Given the description of an element on the screen output the (x, y) to click on. 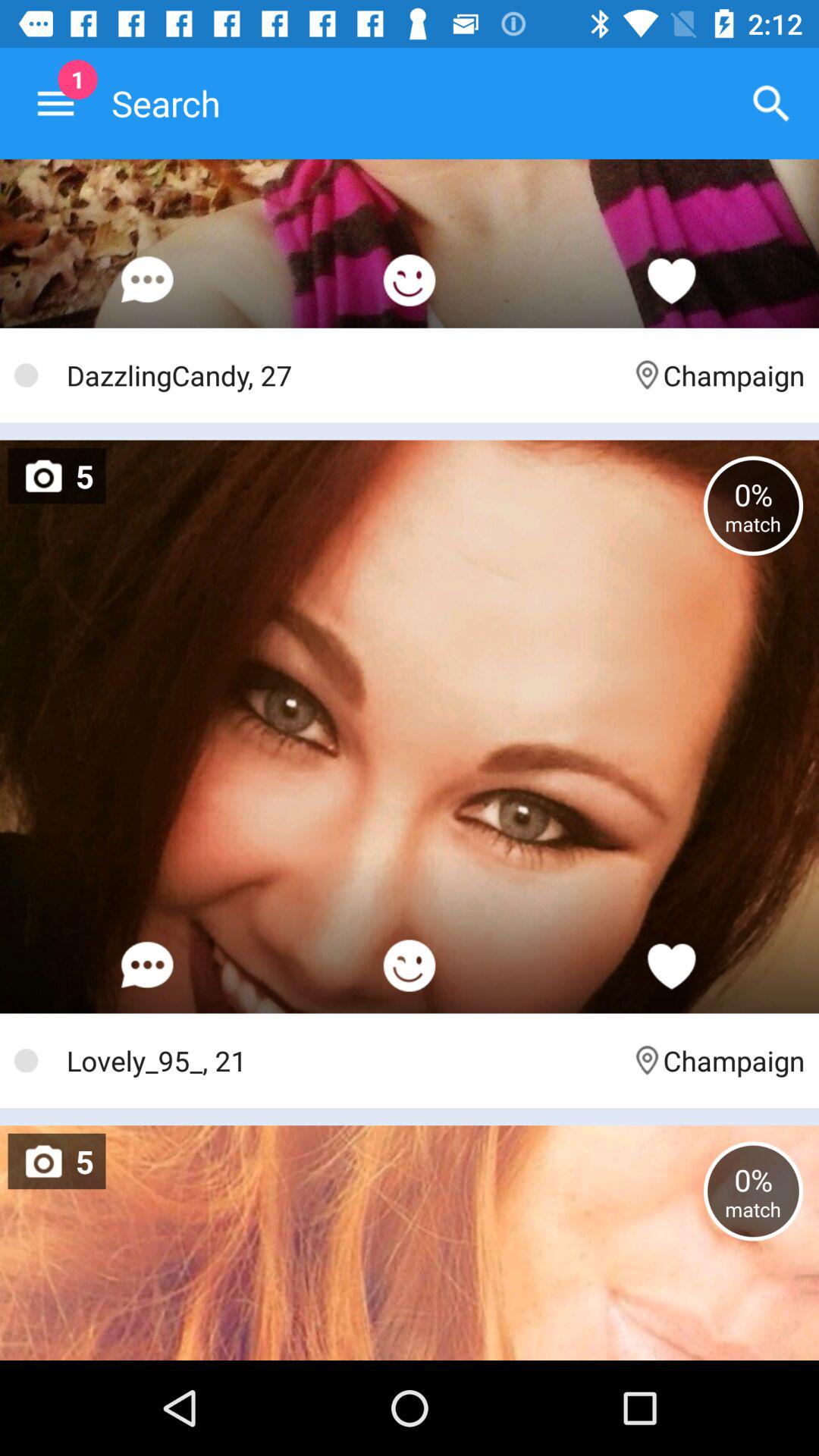
open the item to the left of the champaign icon (341, 375)
